Given the description of an element on the screen output the (x, y) to click on. 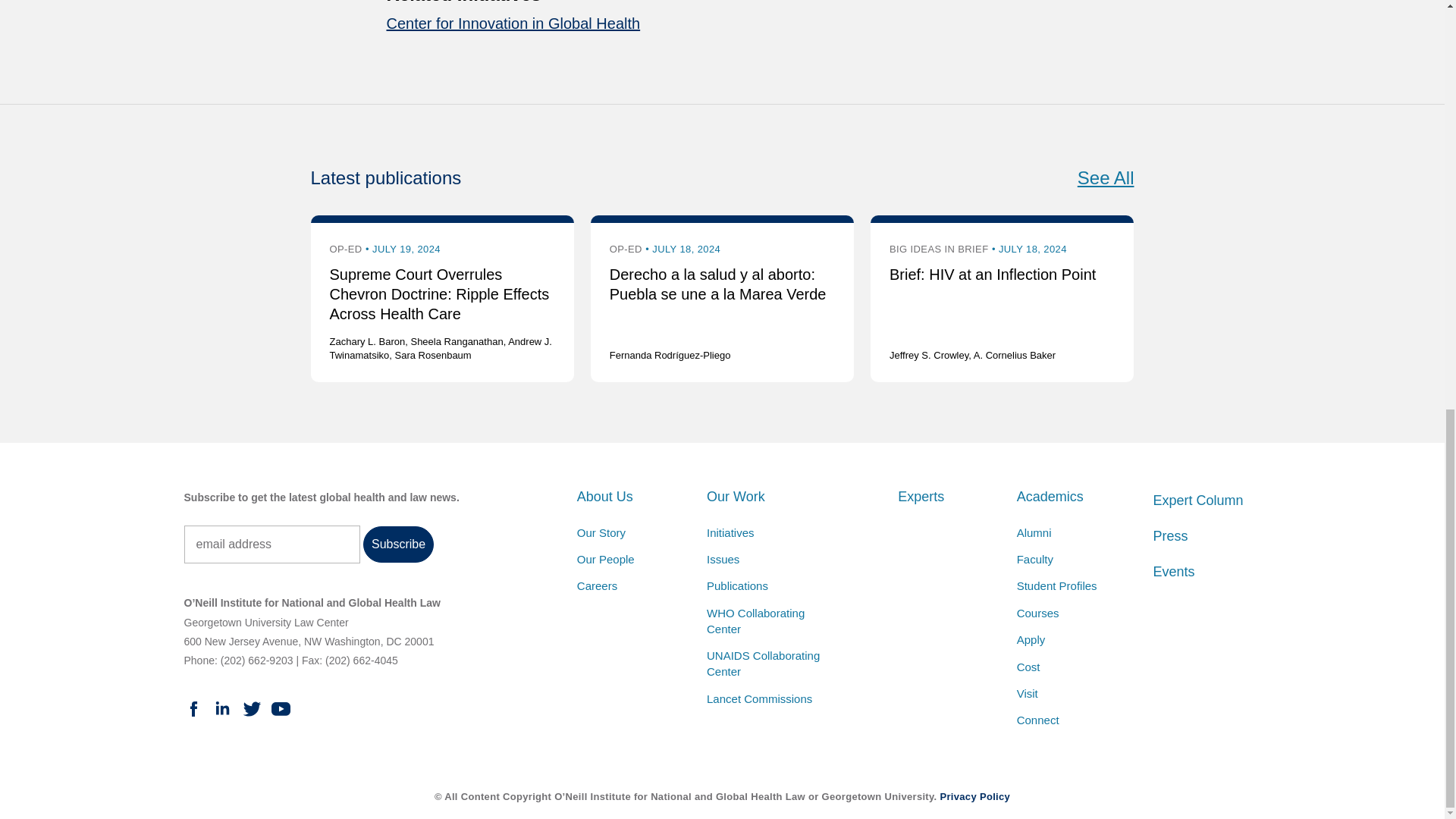
See All (1105, 177)
Center for Innovation in Global Health (513, 23)
Subscribe (397, 544)
Read More About Brief: HIV at an Inflection Point (992, 274)
